Given the description of an element on the screen output the (x, y) to click on. 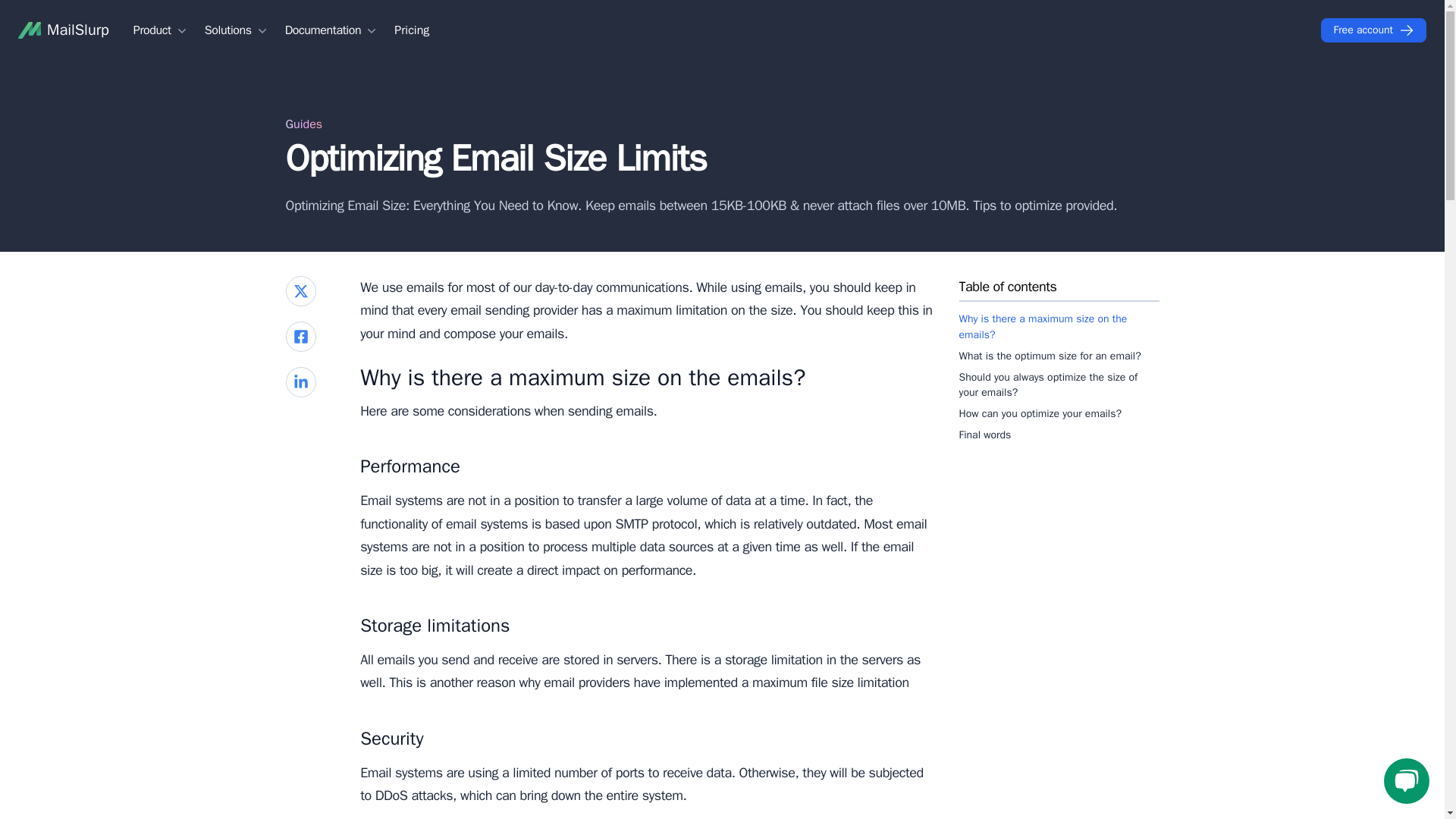
Pricing (411, 30)
Documentation (332, 29)
Pricing (411, 30)
Final words (1058, 435)
How can you optimize your emails? (1058, 414)
Guides (303, 124)
Solutions (237, 29)
Share on LinkedIn (300, 381)
Should you always optimize the size of your emails? (1058, 384)
What is the optimum size for an email? (1058, 355)
